Given the description of an element on the screen output the (x, y) to click on. 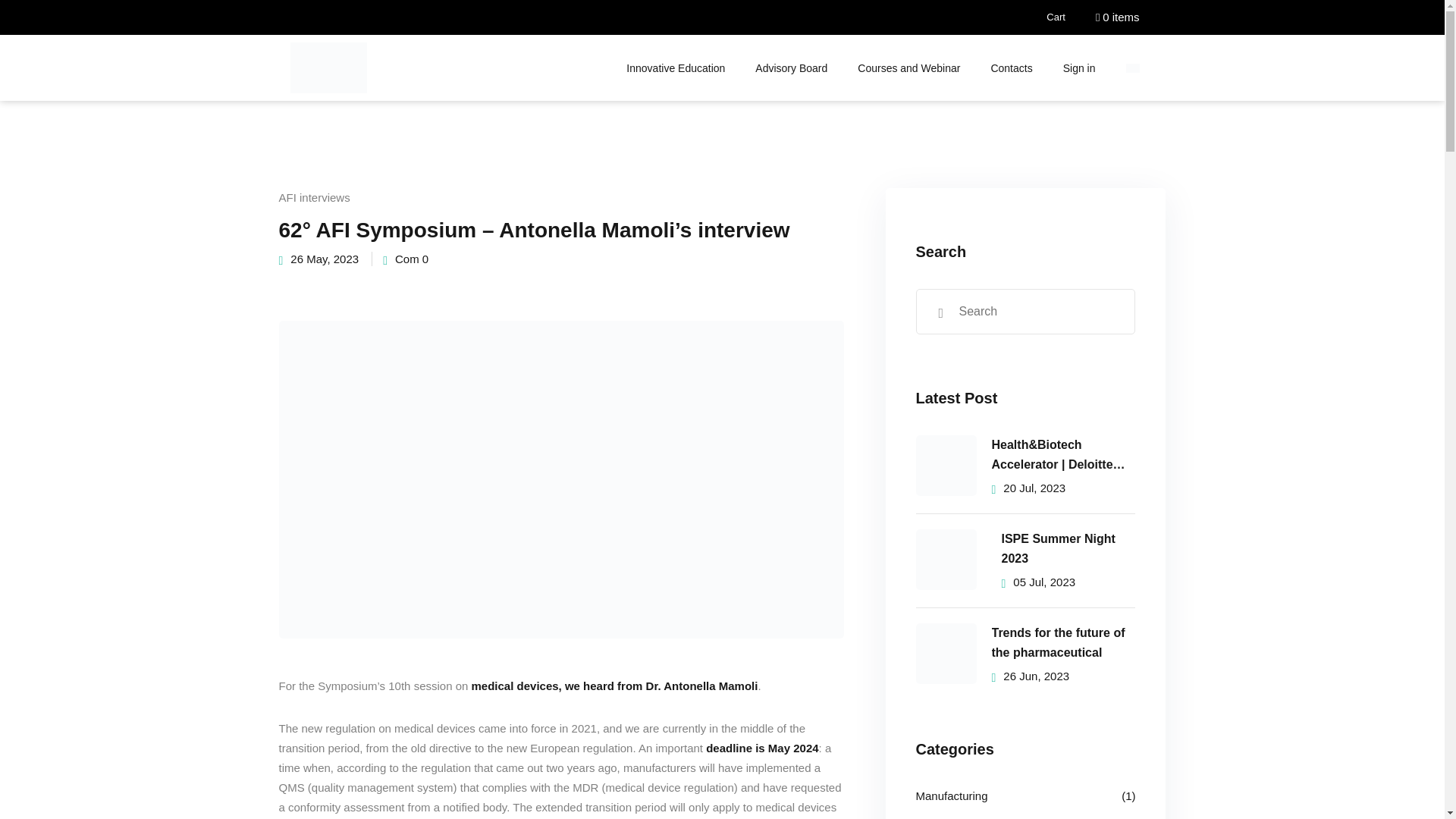
0 items (1117, 17)
Uncategorized (952, 817)
Sign in (1079, 67)
Manufacturing (951, 795)
Advisory Board (791, 67)
Trends for the future of the pharmaceutical (1063, 642)
Cart (1055, 17)
AFI interviews (314, 198)
Innovative Education (675, 67)
ISPE Summer Night 2023 (1068, 548)
